Given the description of an element on the screen output the (x, y) to click on. 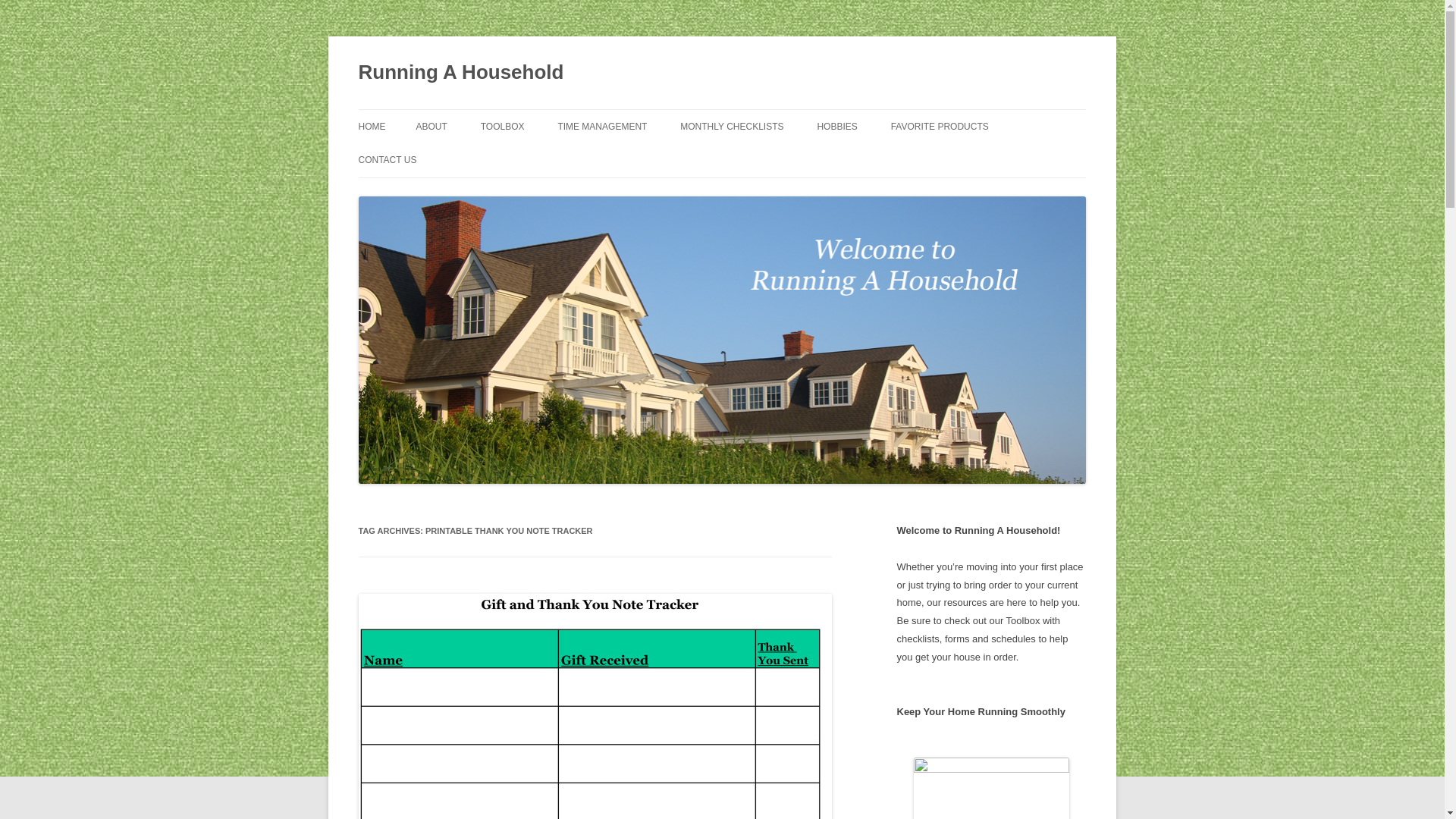
ORGANIZATION (555, 158)
TIME MANAGEMENT (601, 126)
FAVORITE PRODUCTS (939, 126)
TOOLBOX (502, 126)
MONTHLY CHECKLISTS (731, 126)
HOBBIES (836, 126)
GARDENING (892, 158)
Running A Household (460, 72)
CONTACT US (387, 159)
